Given the description of an element on the screen output the (x, y) to click on. 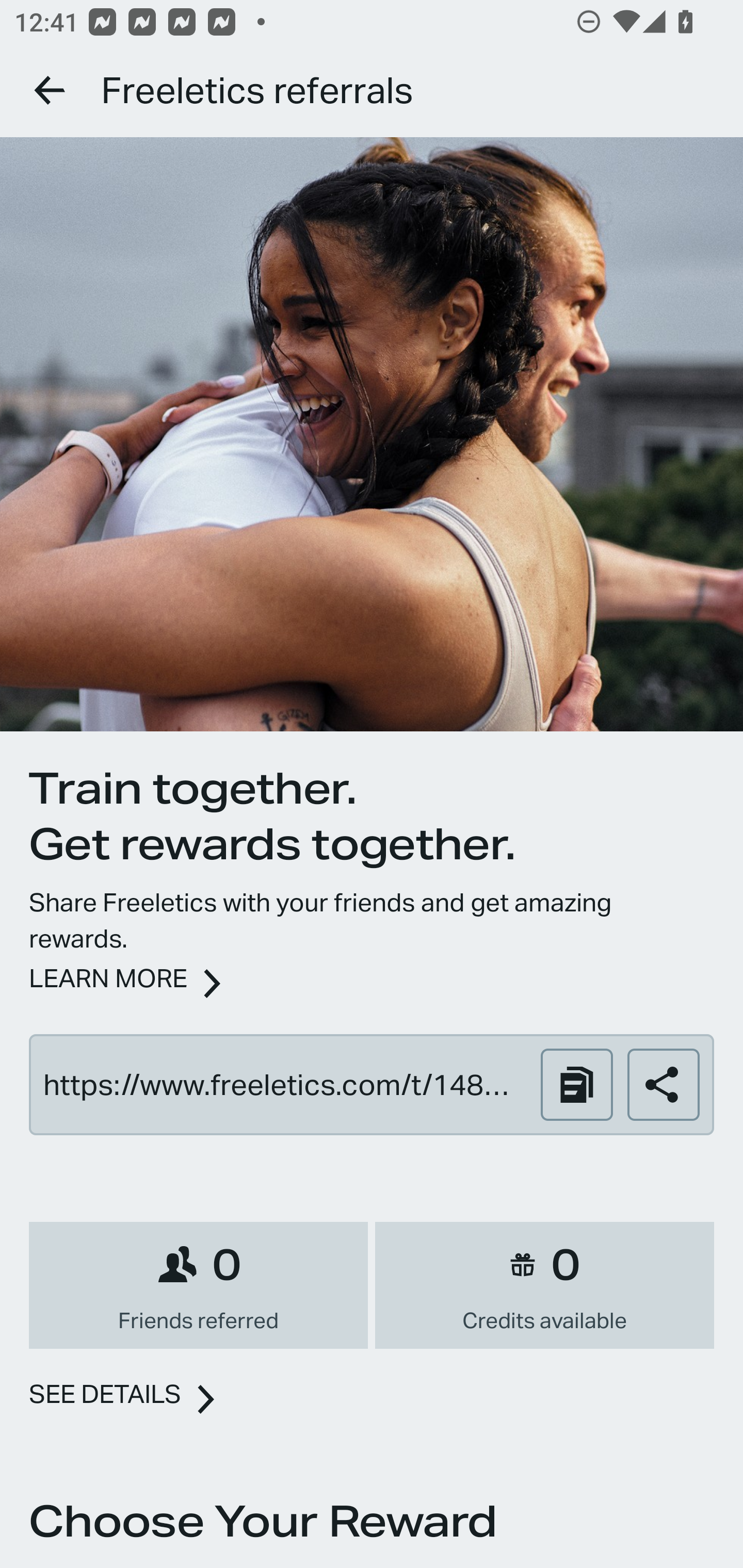
Go back (50, 90)
LEARN MORE (107, 978)
SEE DETAILS (104, 1394)
